Given the description of an element on the screen output the (x, y) to click on. 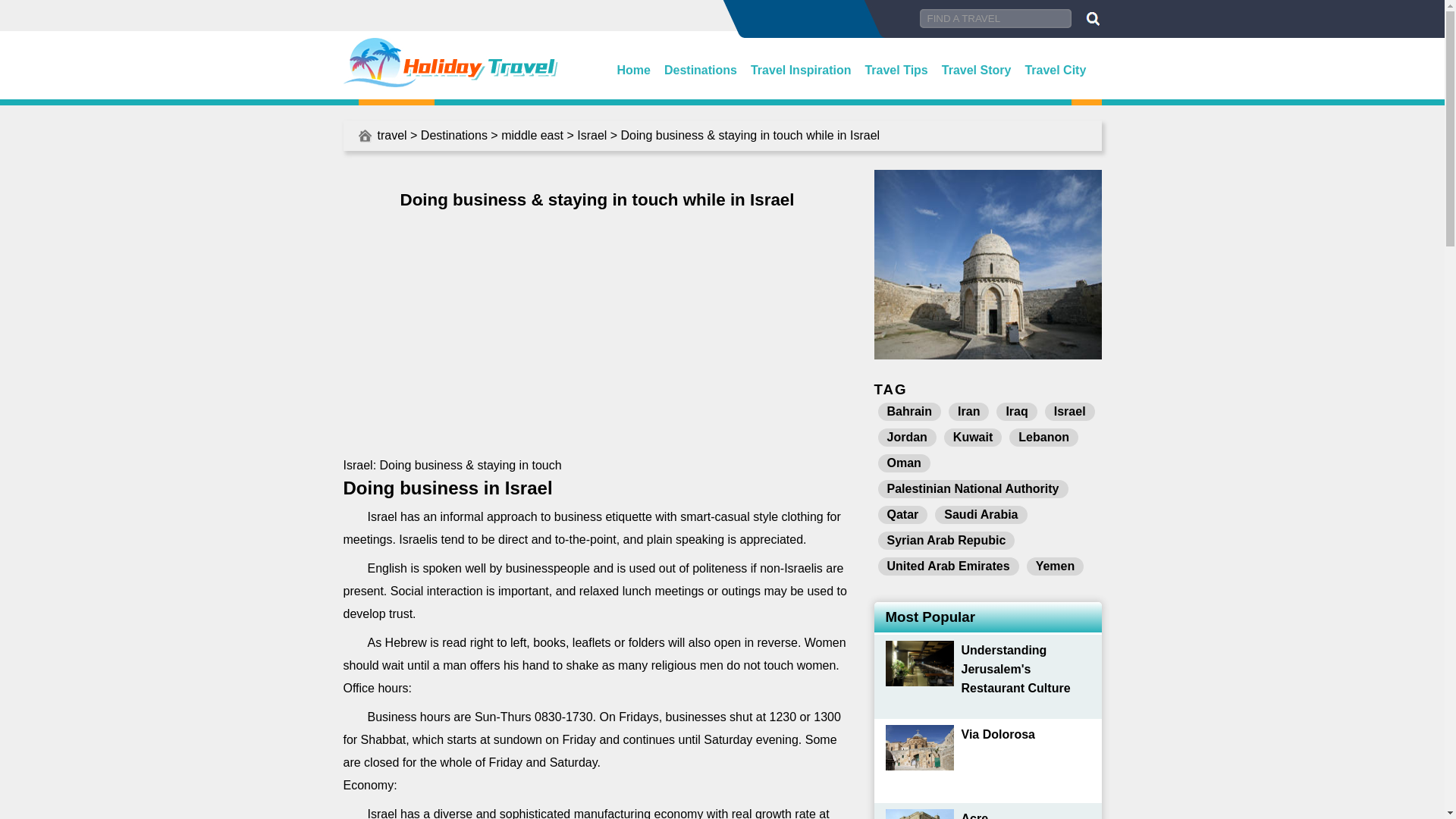
Israel (1069, 411)
Qatar (902, 515)
Saudi Arabia (980, 515)
Iran (968, 411)
United Arab Emirates (948, 566)
Destinations (453, 134)
Advertisement (596, 332)
Iraq (1015, 411)
Travel Inspiration (800, 69)
Yemen (1055, 566)
Home (633, 69)
middle east (531, 134)
Destinations (699, 69)
FIND A TRAVEL (994, 18)
